Given the description of an element on the screen output the (x, y) to click on. 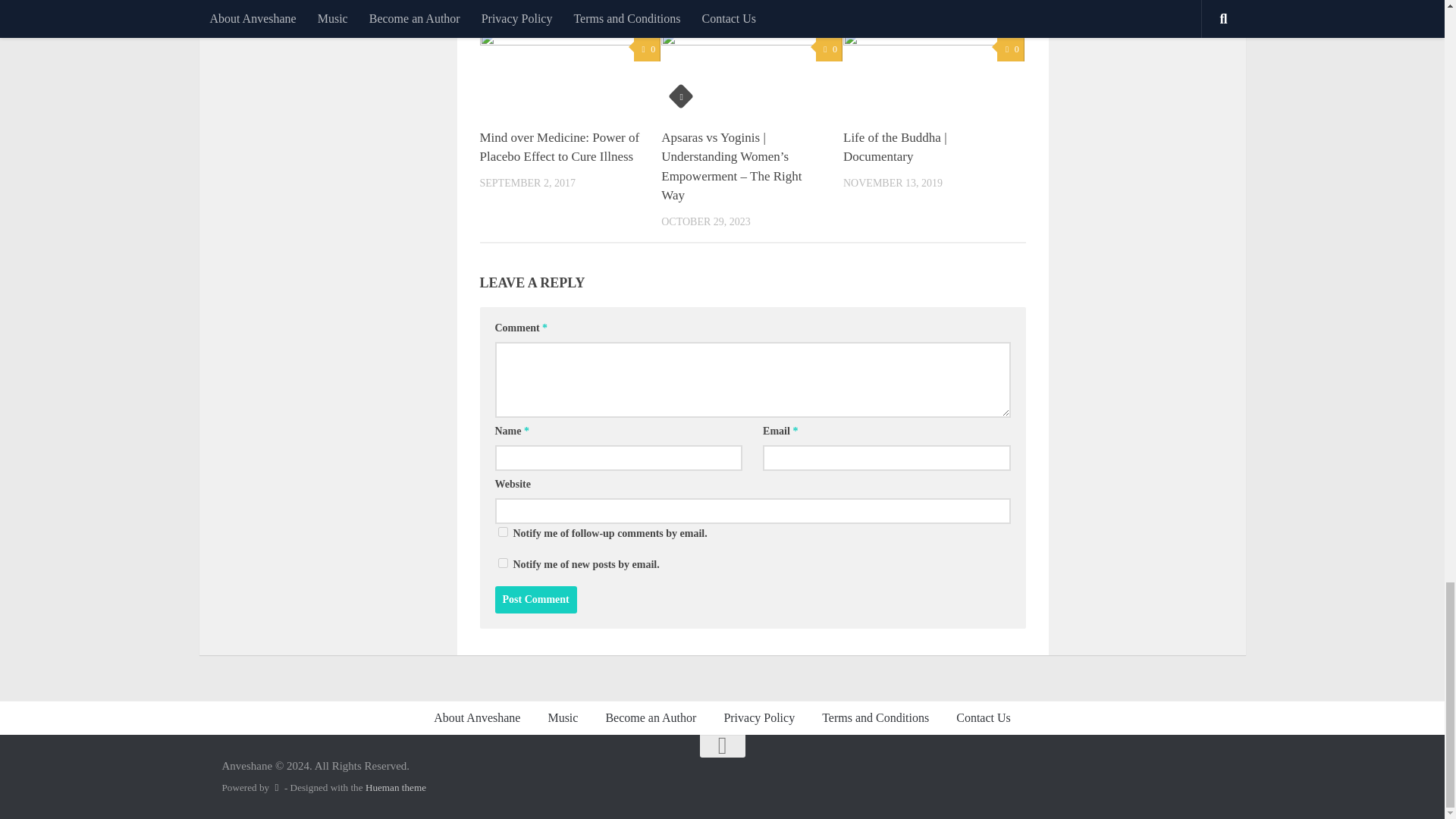
0 (829, 49)
Post Comment (535, 599)
0 (647, 49)
subscribe (501, 562)
subscribe (501, 532)
Post Comment (535, 599)
Mind over Medicine: Power of Placebo Effect to Cure Illness (559, 147)
0 (1010, 49)
